Given the description of an element on the screen output the (x, y) to click on. 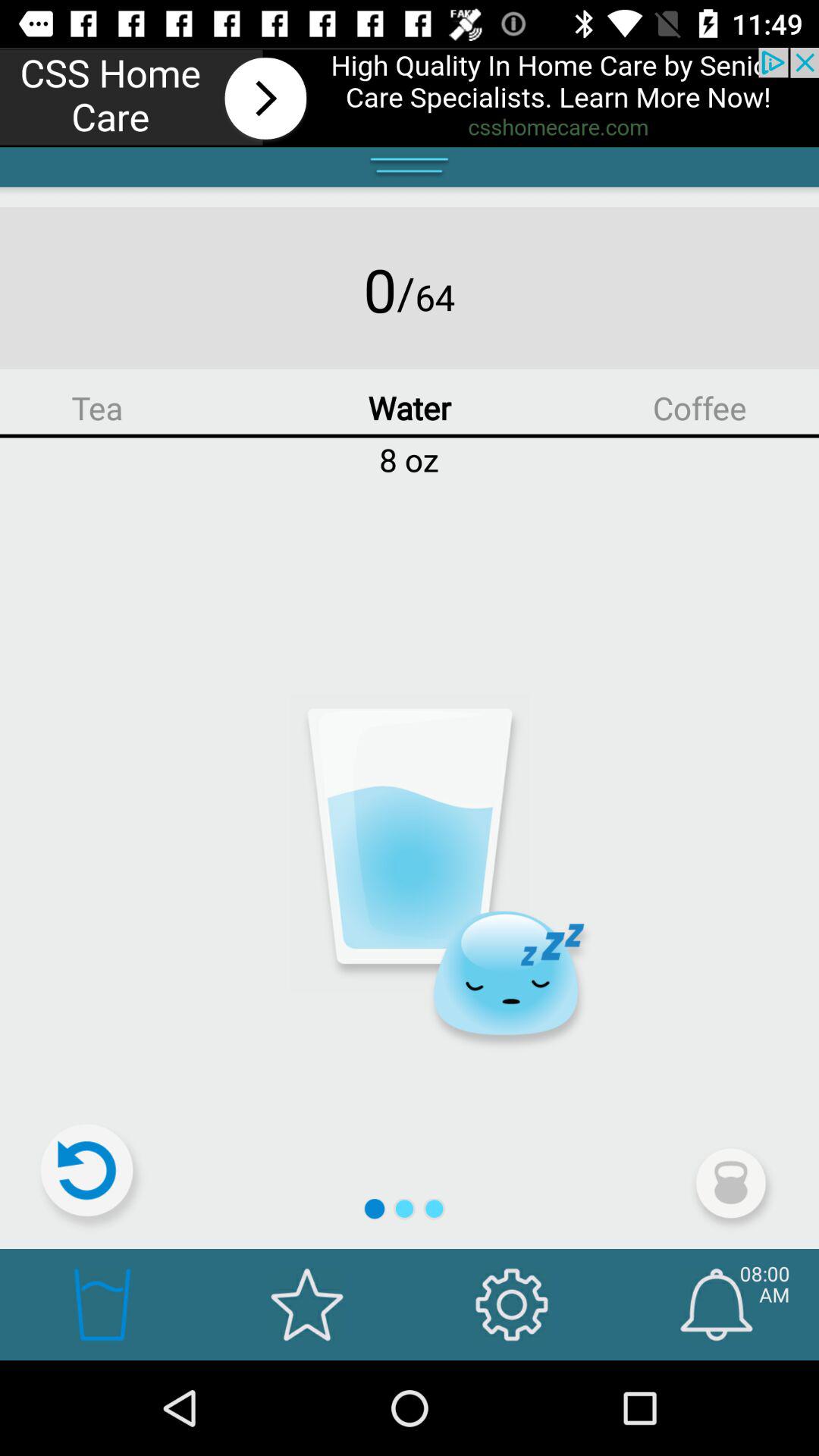
refresh page (93, 1177)
